Given the description of an element on the screen output the (x, y) to click on. 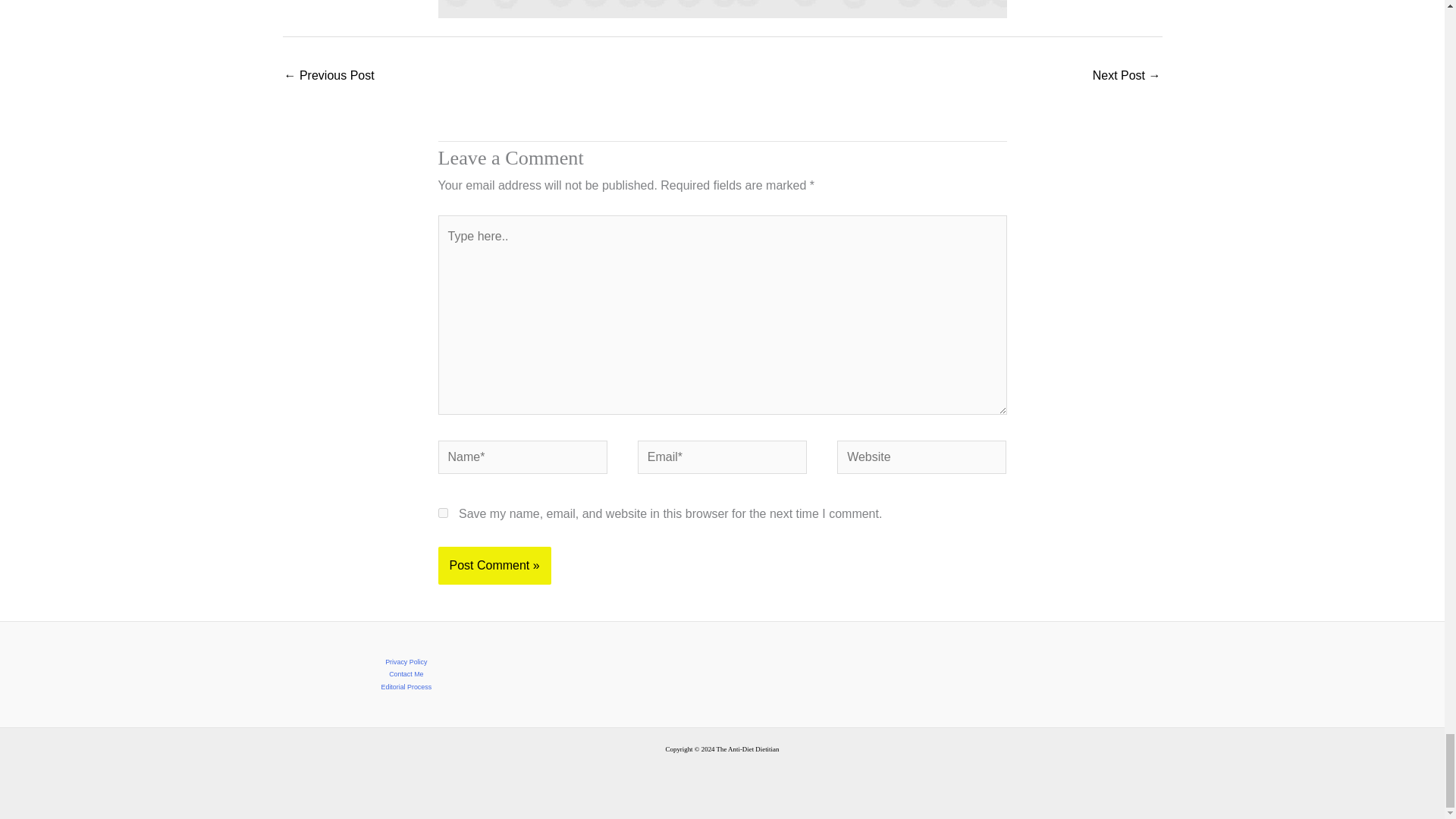
Intuitive Eating and Faith - Taking Care of Your Body (328, 76)
yes (443, 512)
